Given the description of an element on the screen output the (x, y) to click on. 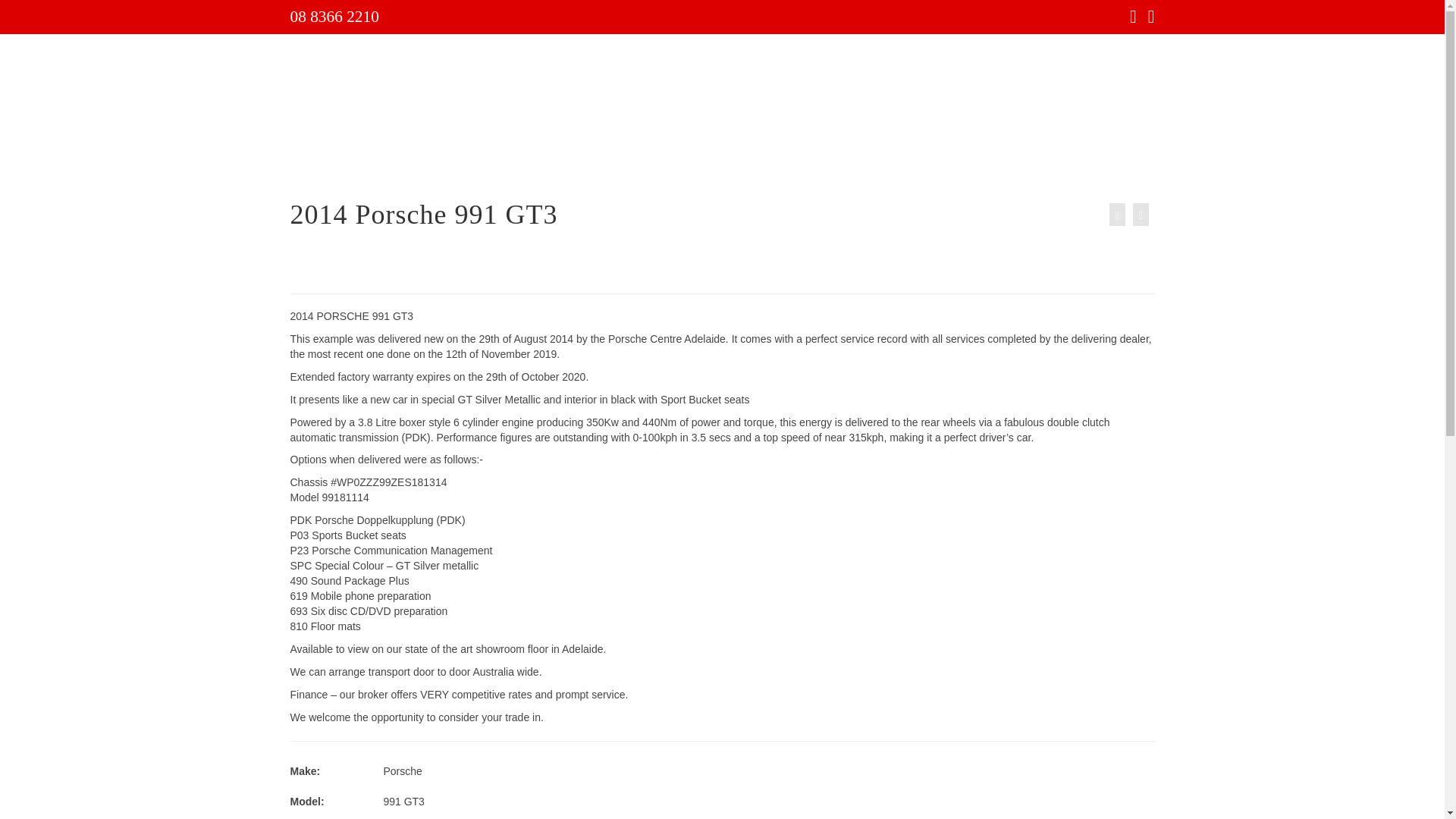
SELL MY CAR (660, 158)
PORSCHE SPECIALISTS (789, 158)
VLOG (896, 158)
HOME (358, 158)
08 8366 2210 (333, 15)
WANTED (571, 158)
CONTACT (1076, 158)
CAR STORAGE (981, 158)
FOR SALE (432, 158)
SOLD (503, 158)
